Given the description of an element on the screen output the (x, y) to click on. 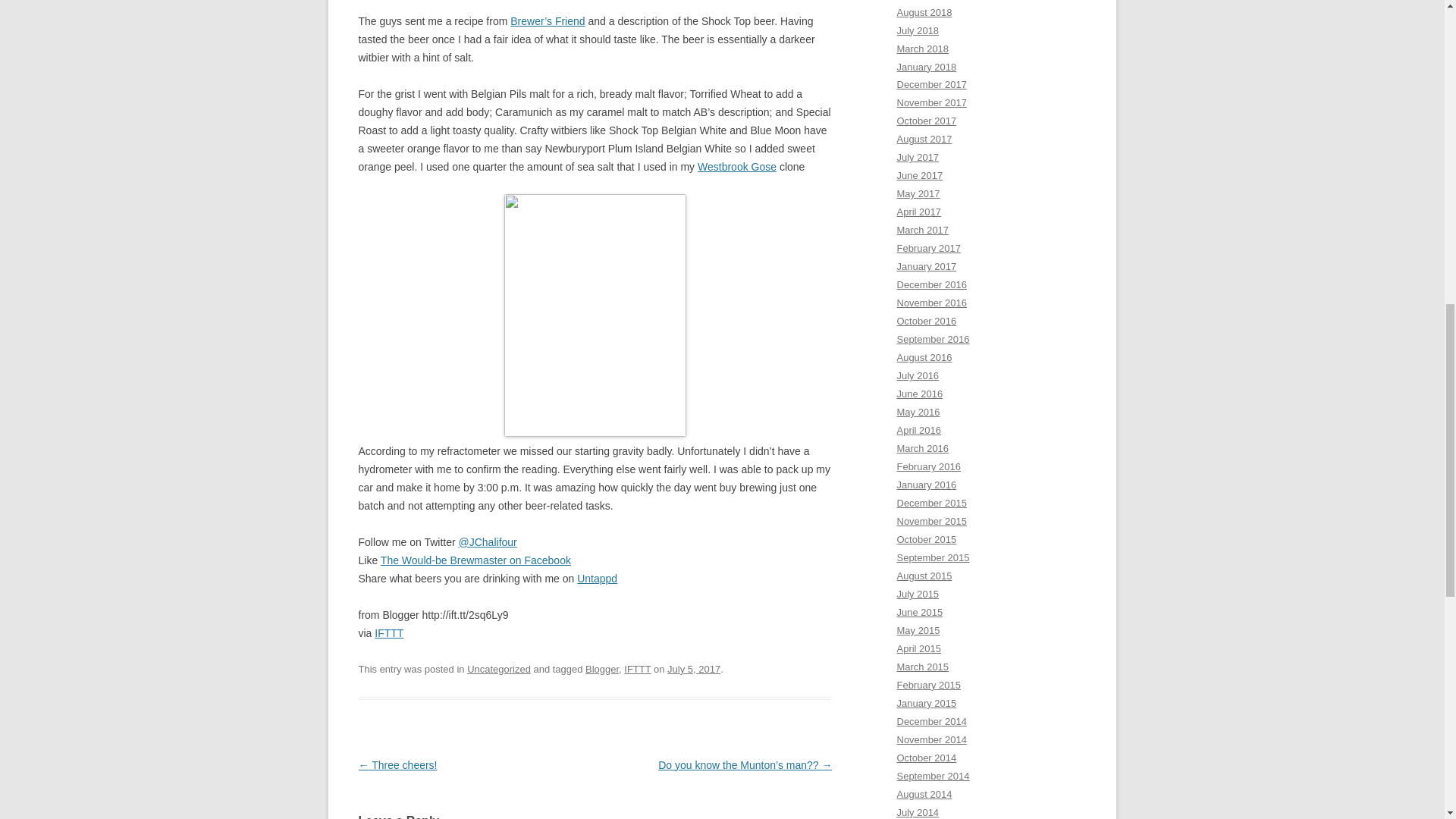
IFTTT (637, 668)
11:36 am (693, 668)
Uncategorized (499, 668)
Blogger (601, 668)
Untappd (596, 578)
July 5, 2017 (693, 668)
IFTTT (388, 633)
Westbrook Gose (736, 166)
The Would-be Brewmaster on Facebook (475, 560)
